Given the description of an element on the screen output the (x, y) to click on. 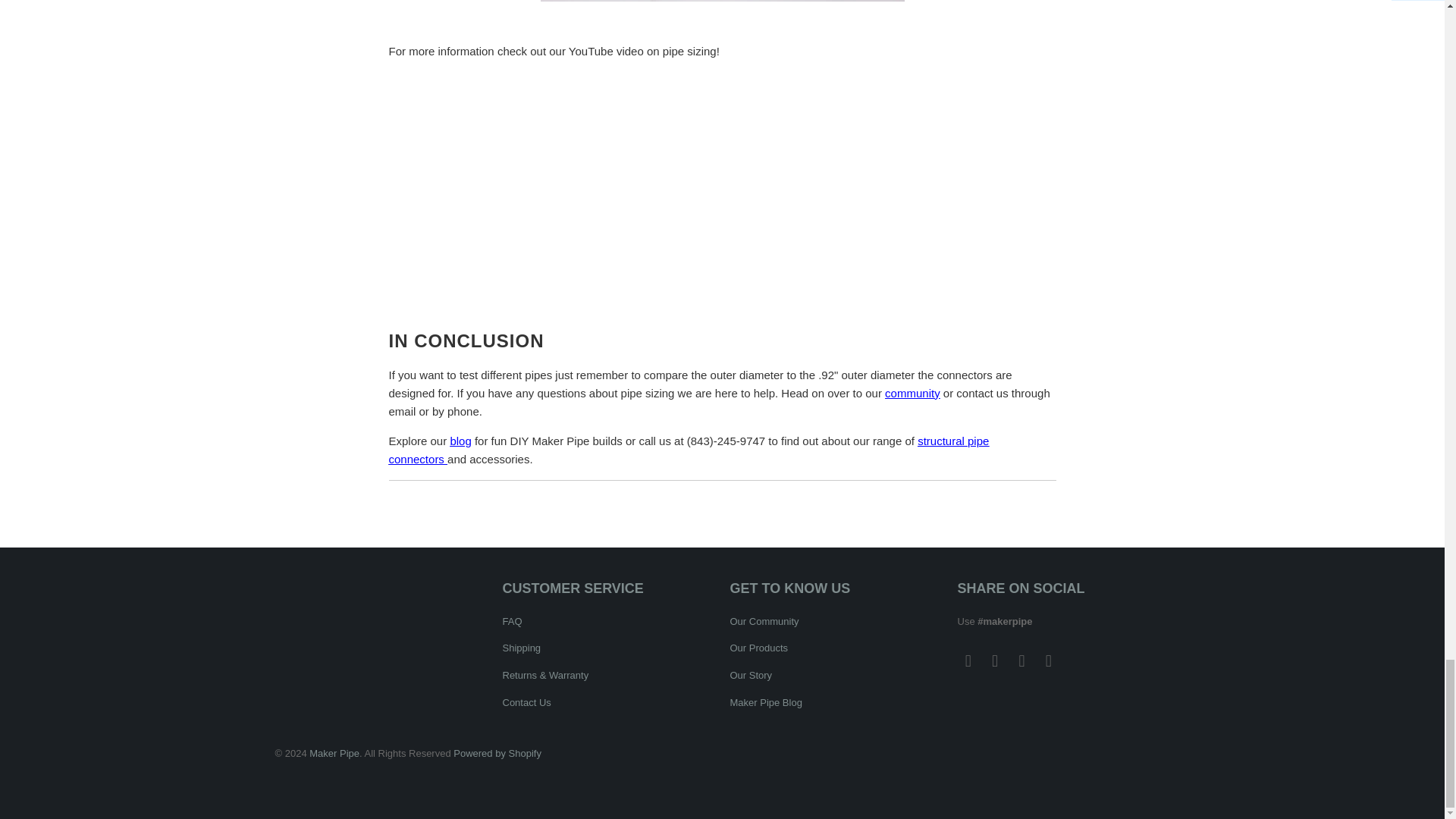
Maker Pipe on YouTube (995, 660)
Maker Pipe Connect - A DIY Community (912, 392)
Maker Pipe on Facebook (967, 660)
structural pipe connectors (688, 450)
Maker Pipe Blogs (459, 440)
